Given the description of an element on the screen output the (x, y) to click on. 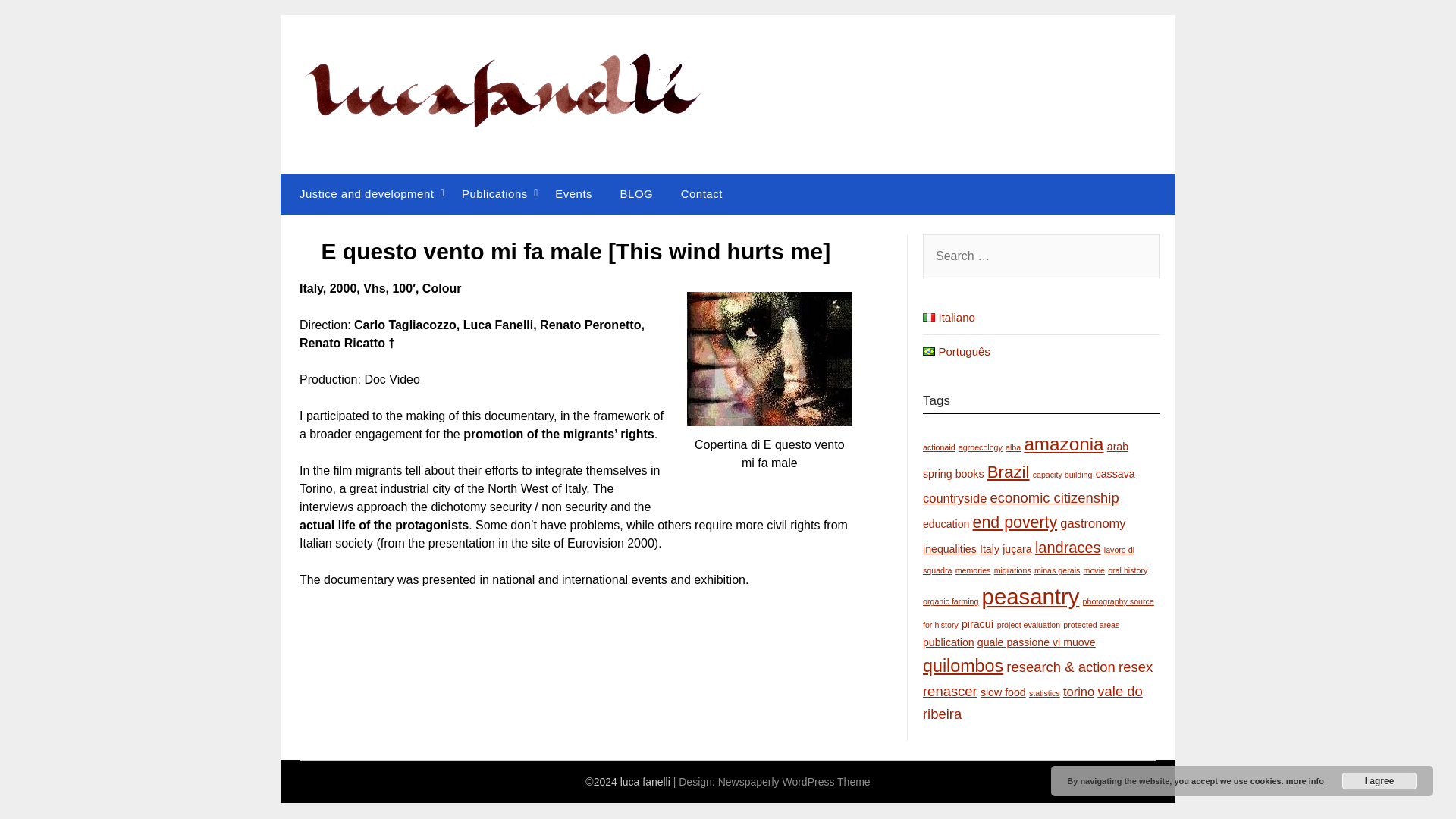
Publications (494, 193)
Justice and development (363, 193)
Search (38, 22)
cassava (1115, 473)
Italiano (949, 317)
actionaid (939, 447)
countryside (955, 498)
Contact (701, 193)
economic citizenship (1054, 497)
amazonia (1063, 444)
Brazil (1008, 471)
books (969, 473)
Events (573, 193)
arab spring (1025, 459)
Italy (988, 548)
